Given the description of an element on the screen output the (x, y) to click on. 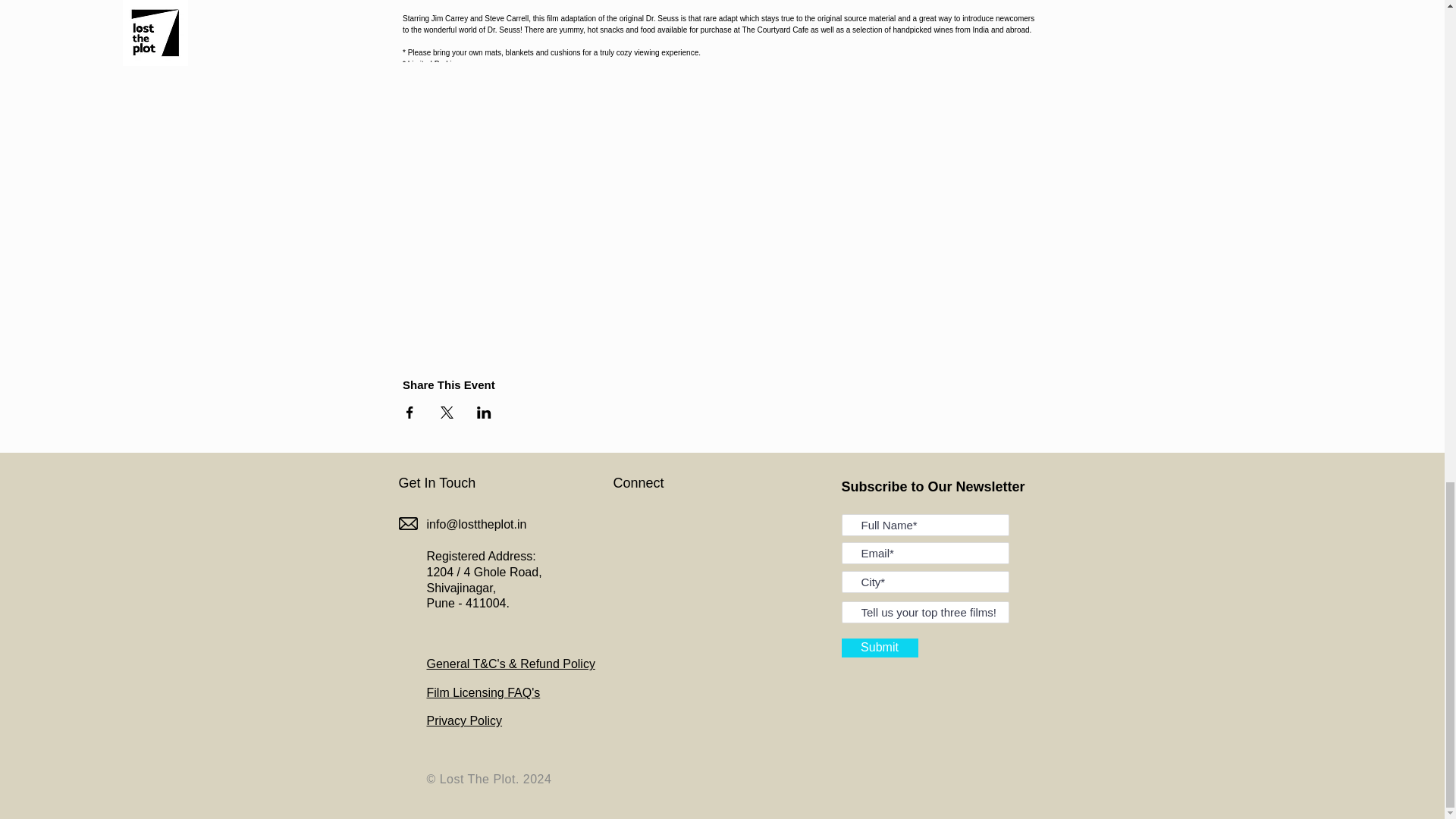
Film Licensing FAQ's (483, 692)
Privacy Policy (464, 720)
Submit (879, 647)
